Given the description of an element on the screen output the (x, y) to click on. 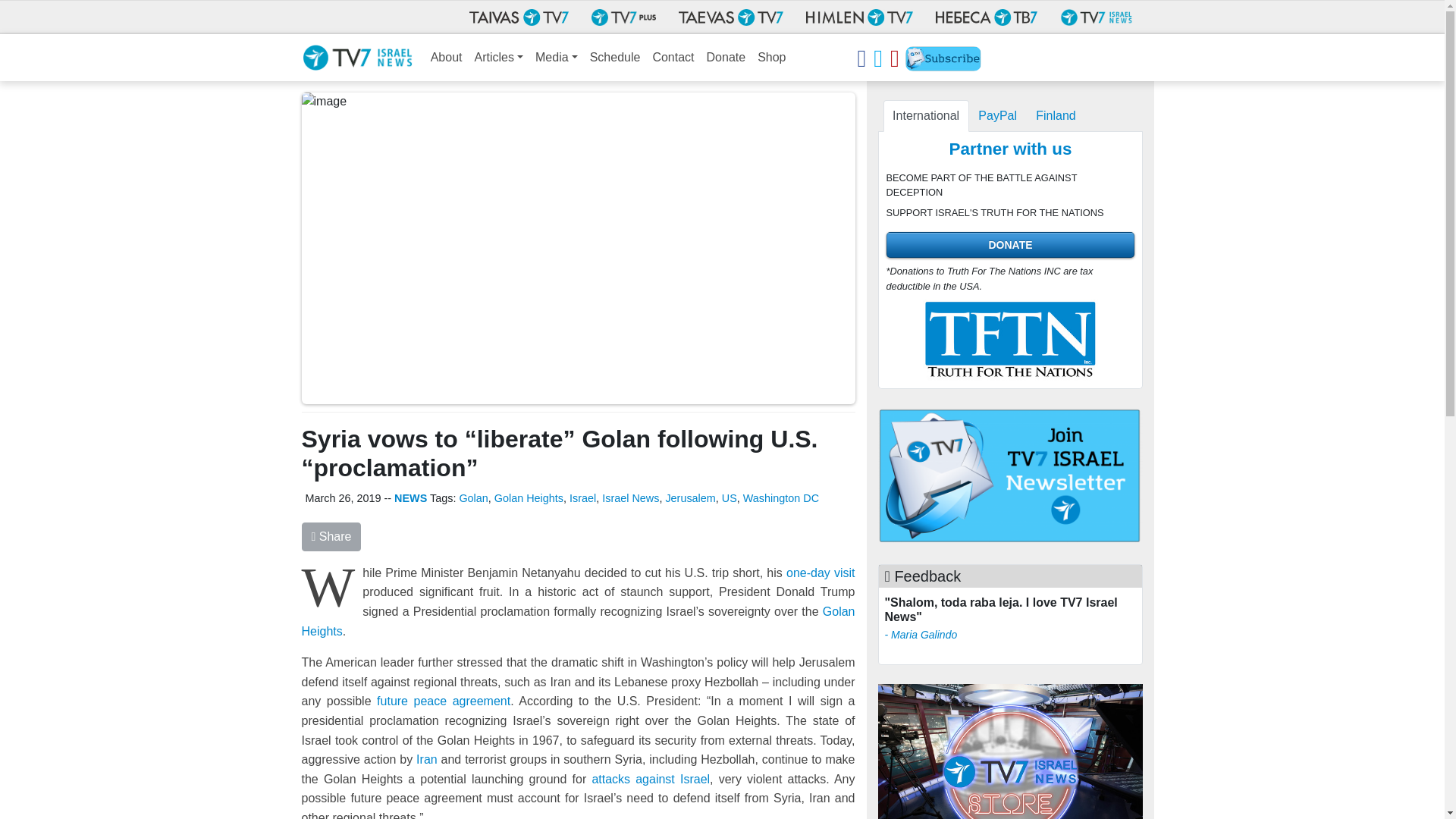
NEWS (410, 498)
Golan Heights (529, 498)
Israel (582, 498)
Israel News (630, 498)
Schedule (614, 57)
Washington DC (780, 498)
Contact (673, 57)
Share (331, 536)
Articles (498, 57)
Shop (771, 57)
Jerusalem (689, 498)
Media (556, 57)
Golan (472, 498)
About (446, 57)
Newsletter (943, 60)
